Given the description of an element on the screen output the (x, y) to click on. 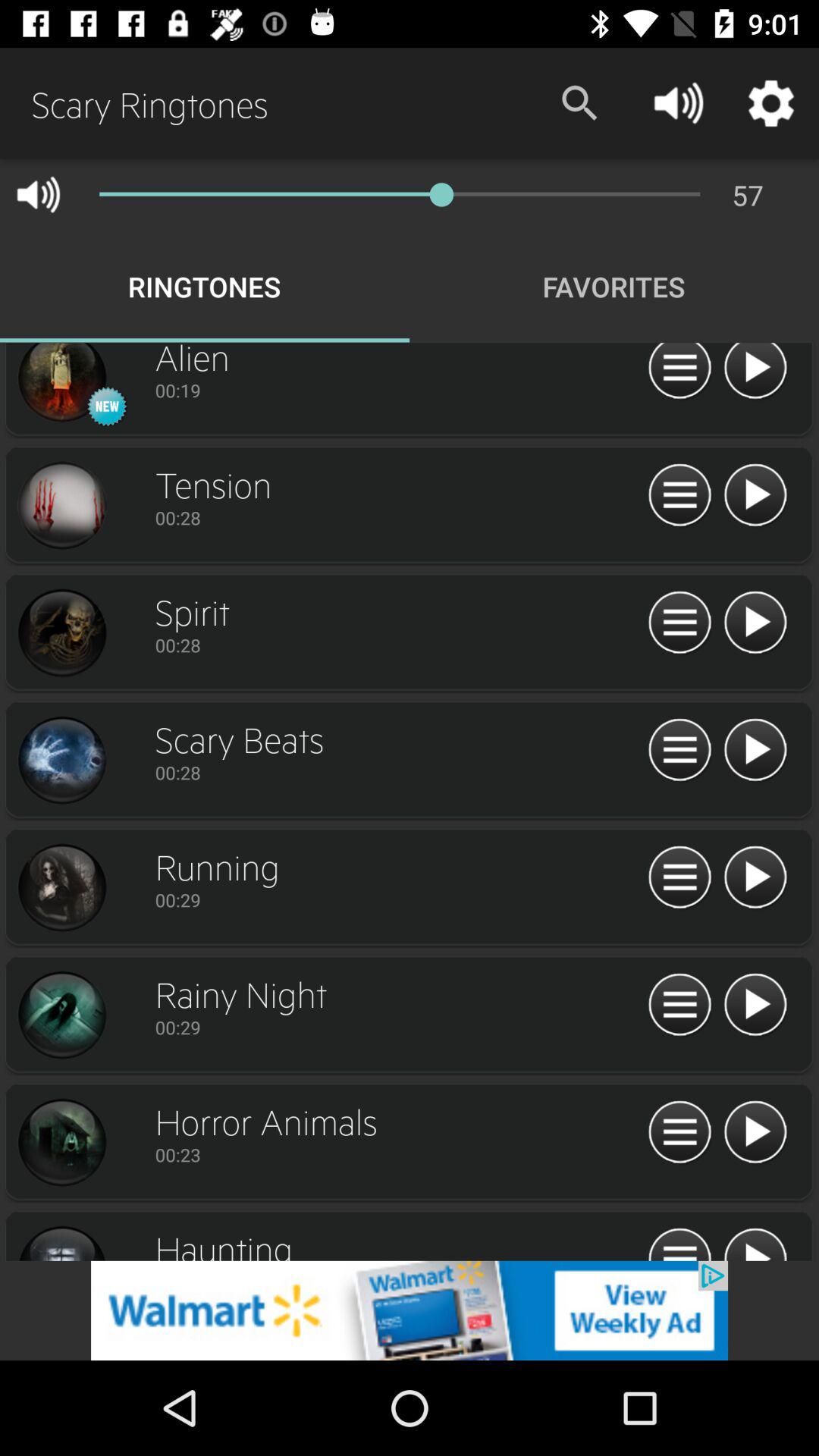
go to play (755, 750)
